Given the description of an element on the screen output the (x, y) to click on. 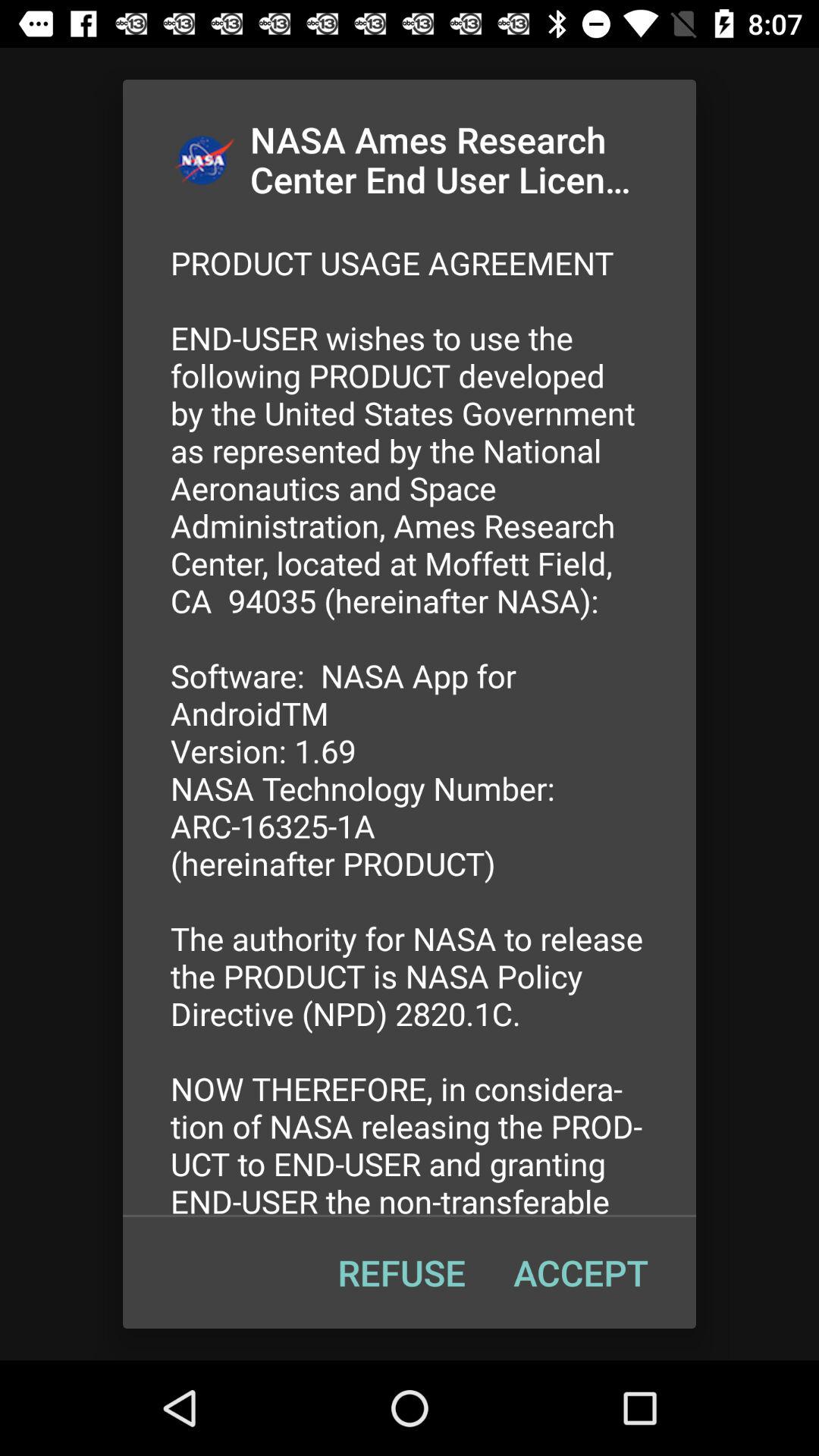
tap item at the bottom right corner (580, 1272)
